Given the description of an element on the screen output the (x, y) to click on. 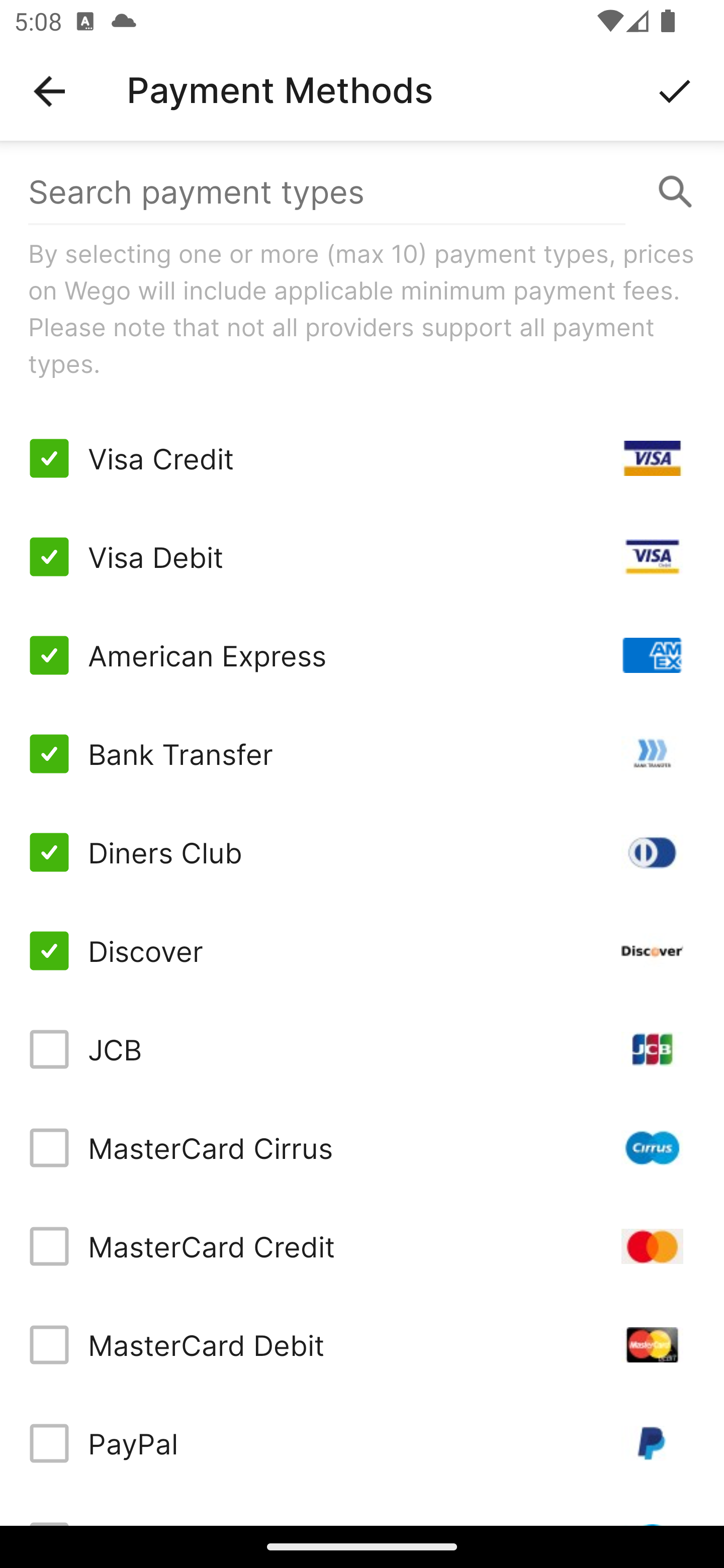
Search payment types  (361, 191)
Visa Credit (362, 458)
Visa Debit (362, 557)
American Express (362, 655)
Bank Transfer (362, 753)
Diners Club (362, 851)
Discover (362, 950)
JCB (362, 1049)
MasterCard Cirrus (362, 1147)
MasterCard Credit (362, 1245)
MasterCard Debit (362, 1344)
PayPal (362, 1442)
